Given the description of an element on the screen output the (x, y) to click on. 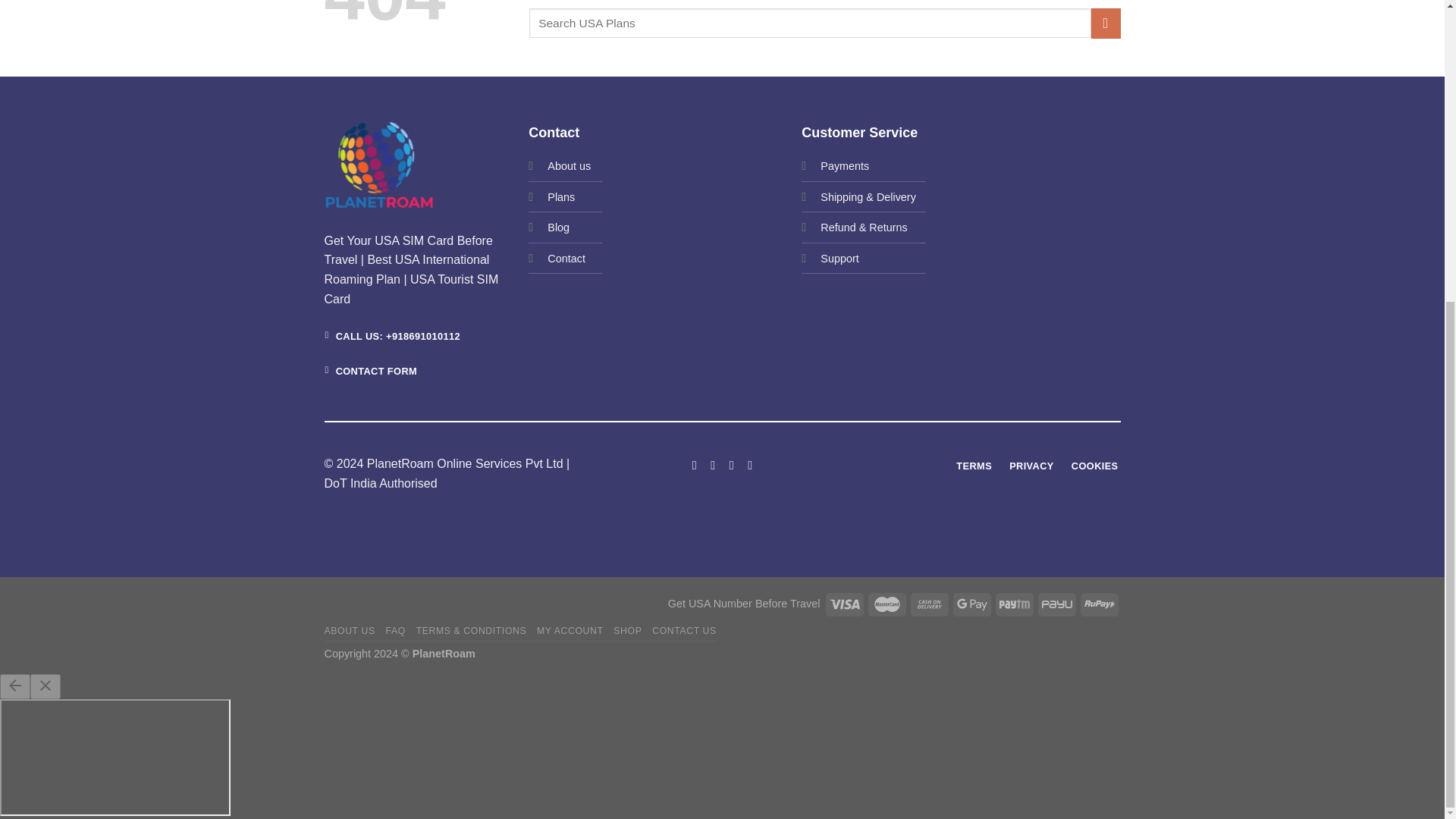
Support (840, 258)
Blog (558, 226)
Payments (845, 165)
Contact (566, 258)
Plans (561, 196)
CONTACT FORM (371, 371)
About us (569, 164)
